Given the description of an element on the screen output the (x, y) to click on. 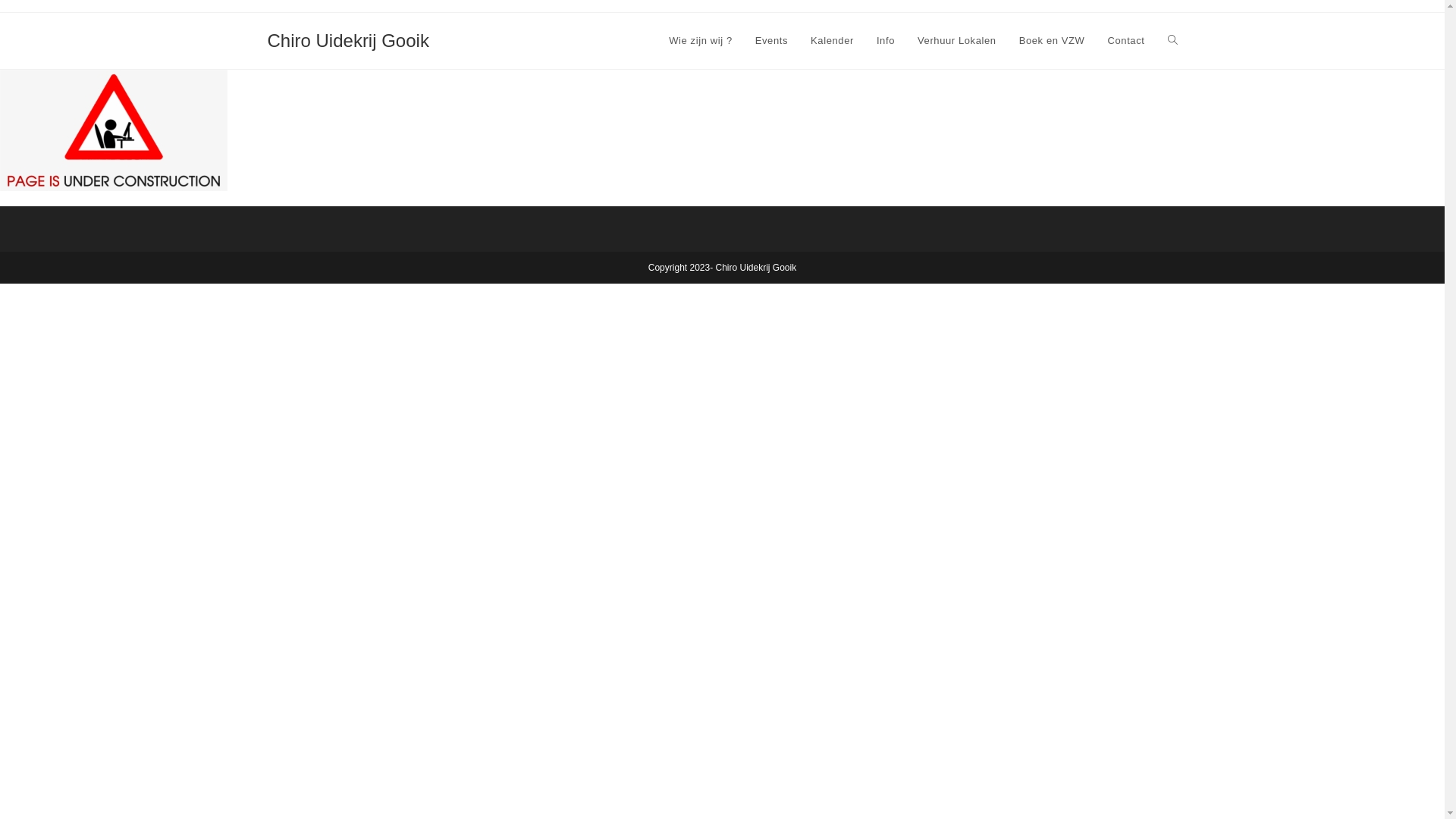
Boek en VZW Element type: text (1051, 40)
Chiro Uidekrij Gooik Element type: text (347, 40)
Info Element type: text (885, 40)
Wie zijn wij ? Element type: text (700, 40)
Contact Element type: text (1125, 40)
Kalender Element type: text (832, 40)
Events Element type: text (771, 40)
Verhuur Lokalen Element type: text (956, 40)
